Given the description of an element on the screen output the (x, y) to click on. 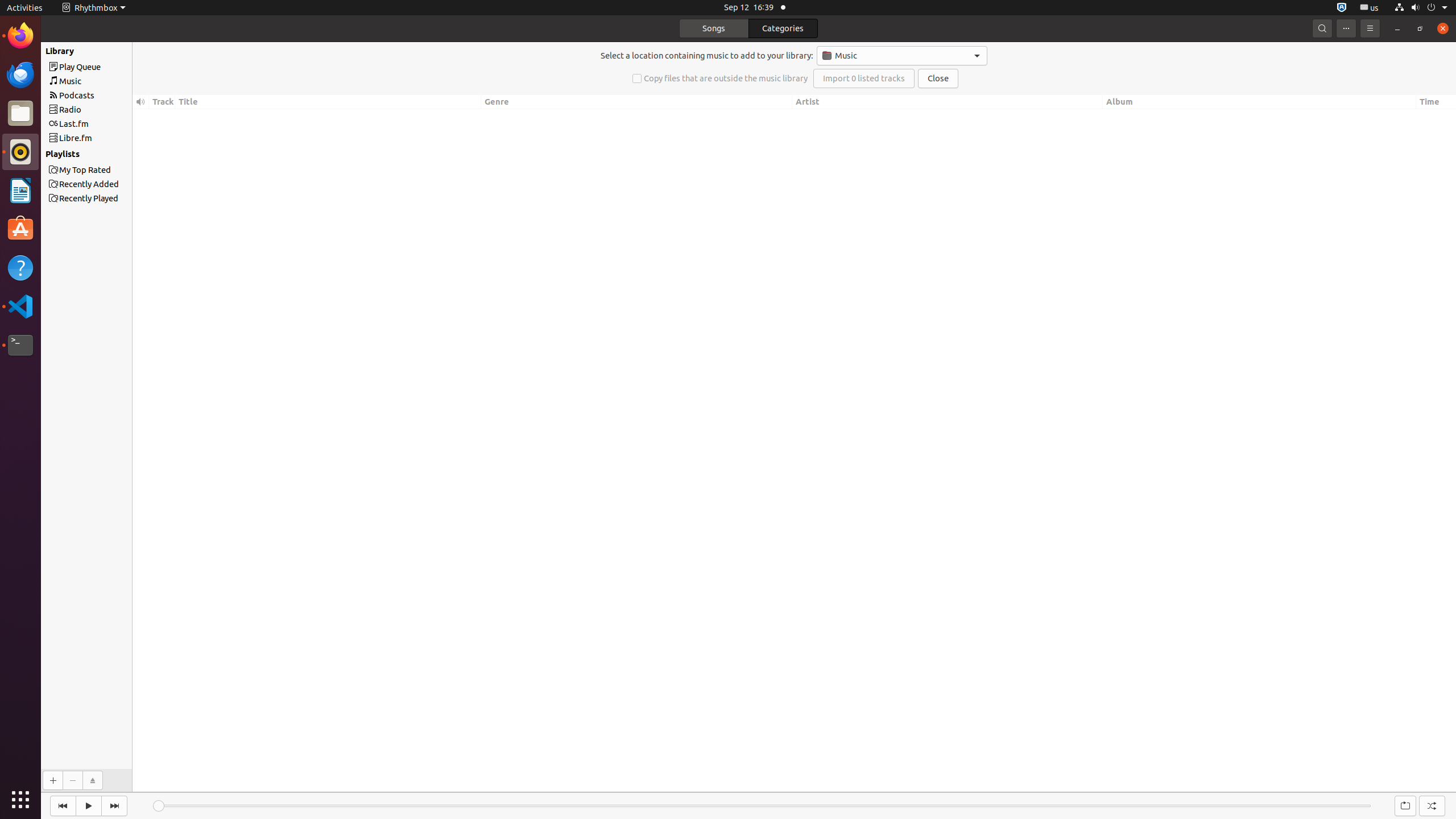
0 songs Element type: label (1432, 783)
Music Element type: table-cell (106, 80)
Last.fm Element type: table-cell (106, 123)
